Given the description of an element on the screen output the (x, y) to click on. 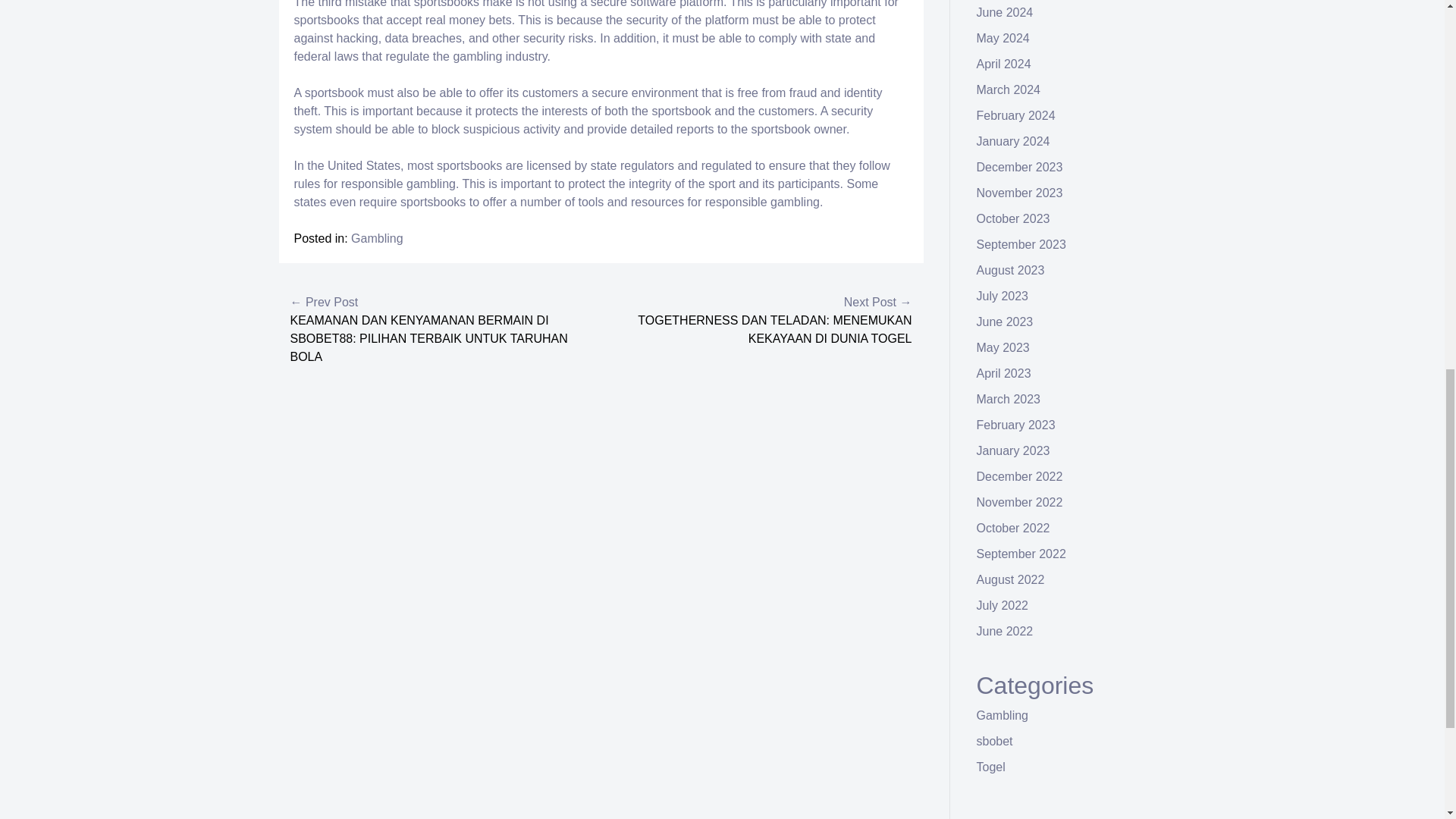
July 2023 (1002, 295)
March 2023 (1008, 399)
October 2022 (1012, 527)
September 2022 (1020, 553)
October 2023 (1012, 218)
September 2023 (1020, 244)
August 2023 (1010, 269)
February 2024 (1015, 115)
February 2023 (1015, 424)
March 2024 (1008, 89)
